Given the description of an element on the screen output the (x, y) to click on. 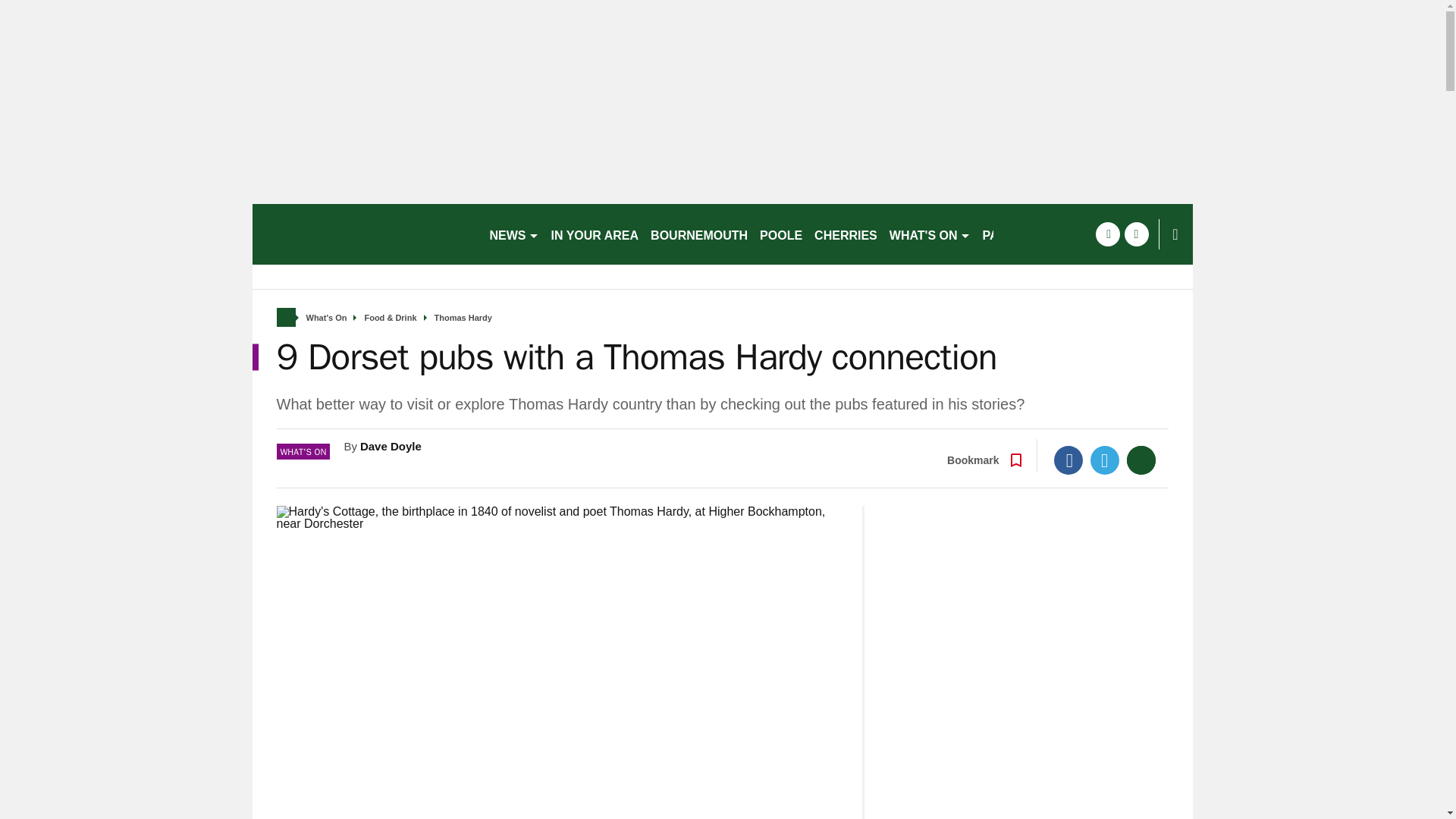
twitter (1136, 233)
Facebook (1068, 460)
WHAT'S ON (929, 233)
Twitter (1104, 460)
NEWS (513, 233)
IN YOUR AREA (594, 233)
BOURNEMOUTH (699, 233)
CHERRIES (845, 233)
POOLE (781, 233)
PARTNER STORIES (1039, 233)
dorsetlive (363, 233)
facebook (1106, 233)
